Given the description of an element on the screen output the (x, y) to click on. 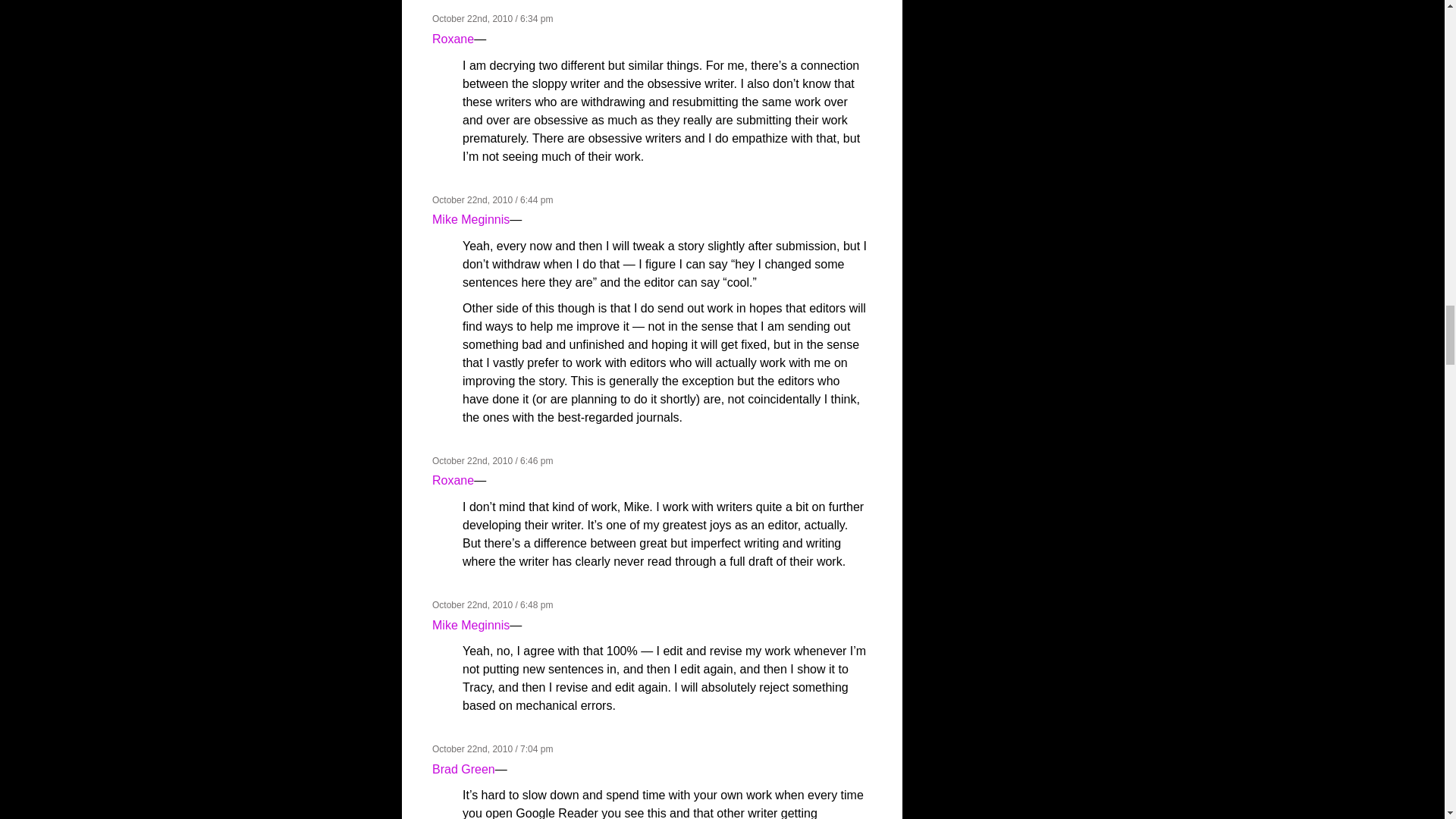
Roxane (453, 480)
Roxane (453, 38)
Mike Meginnis (470, 219)
